Given the description of an element on the screen output the (x, y) to click on. 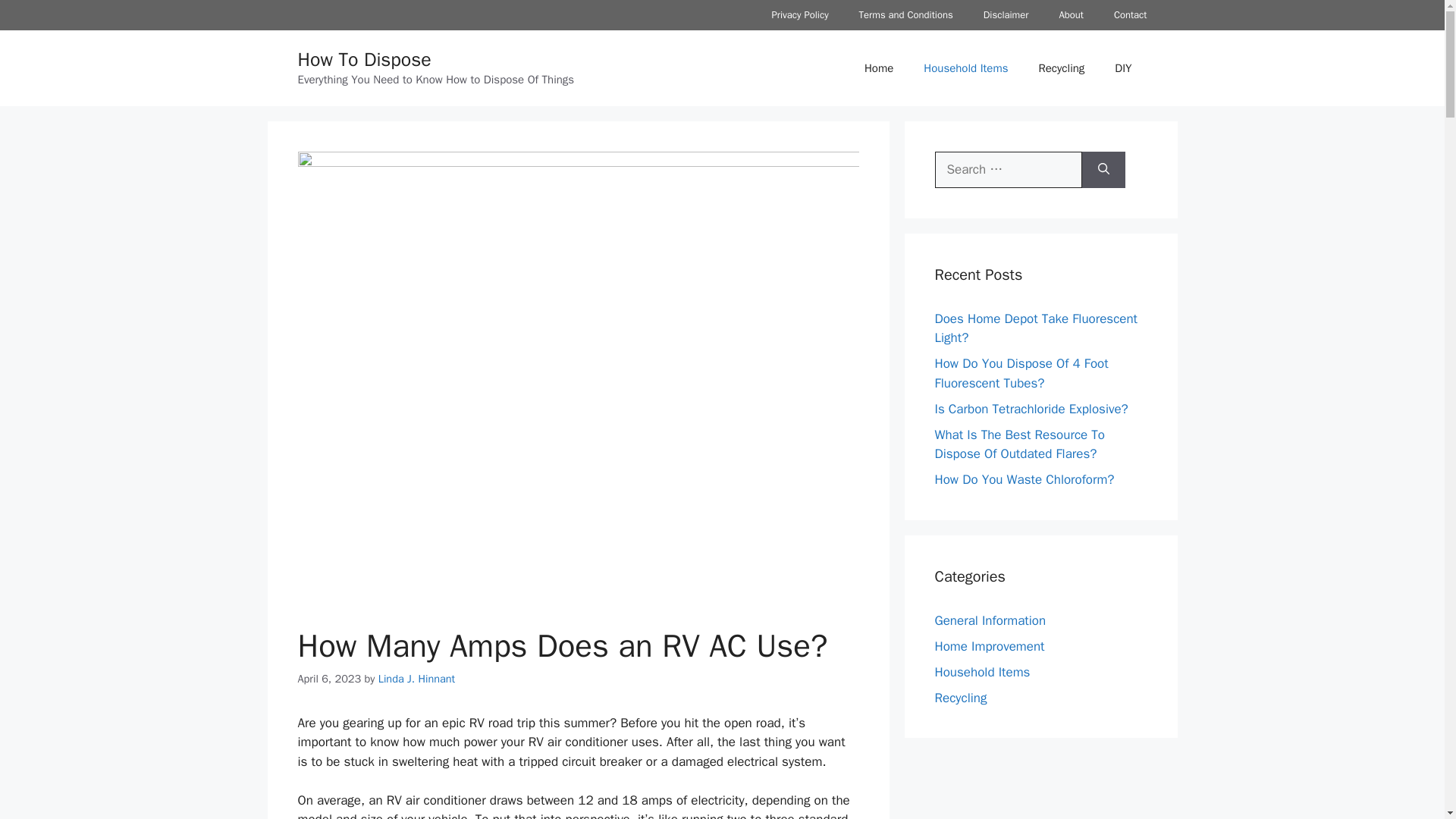
Household Items (981, 672)
Contact (1130, 15)
Search for: (1007, 169)
How Do You Waste Chloroform? (1023, 479)
Home Improvement (988, 646)
What Is The Best Resource To Dispose Of Outdated Flares? (1018, 443)
View all posts by Linda J. Hinnant (416, 678)
Home (878, 67)
Does Home Depot Take Fluorescent Light? (1035, 328)
Is Carbon Tetrachloride Explosive? (1030, 408)
General Information (989, 620)
How To Dispose (363, 59)
DIY (1123, 67)
Recycling (1061, 67)
Household Items (965, 67)
